Given the description of an element on the screen output the (x, y) to click on. 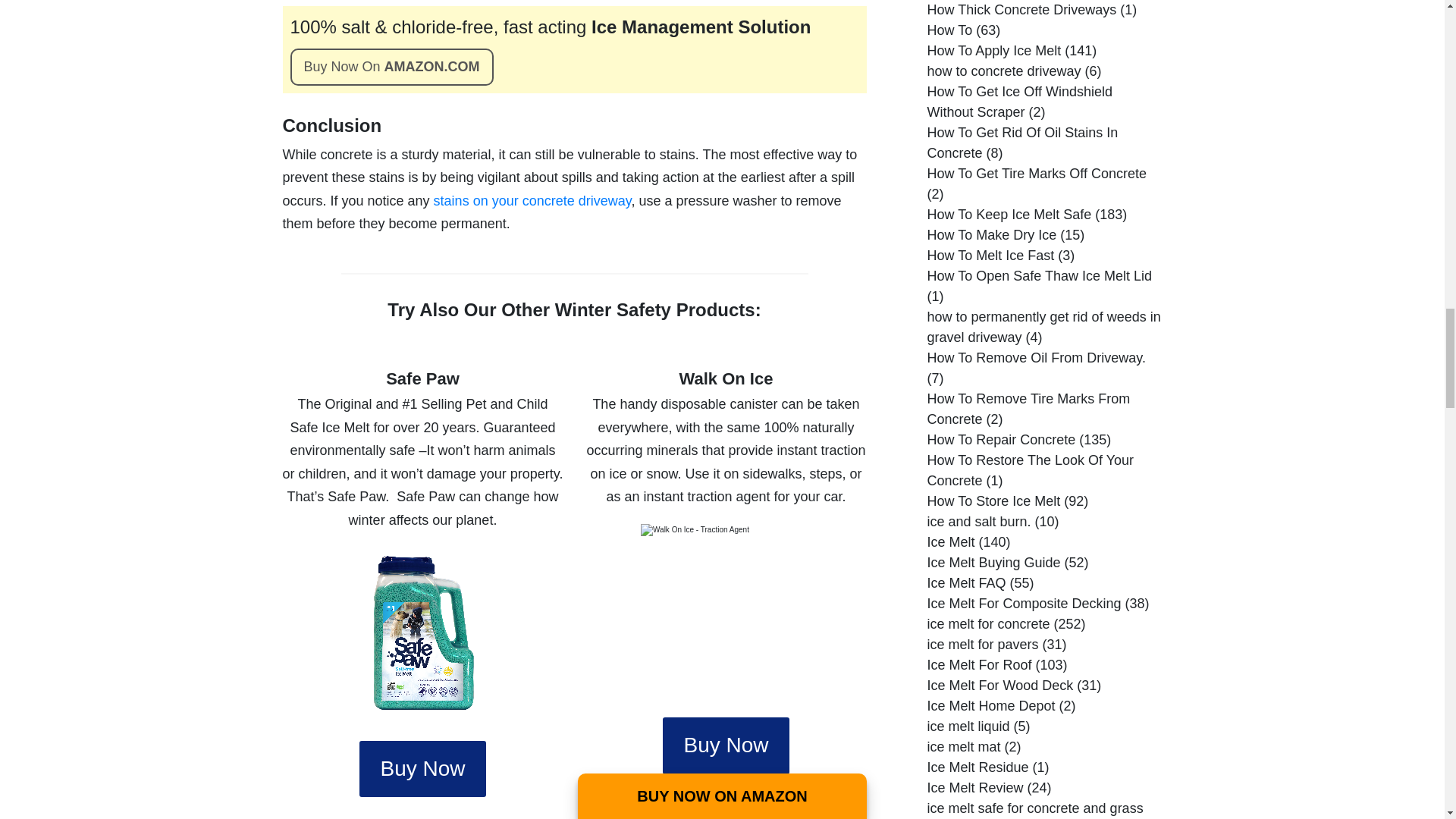
stains on your concrete driveway (532, 200)
Buy Now (421, 769)
Buy Now (725, 745)
Buy Now On AMAZON.COM (391, 66)
